Given the description of an element on the screen output the (x, y) to click on. 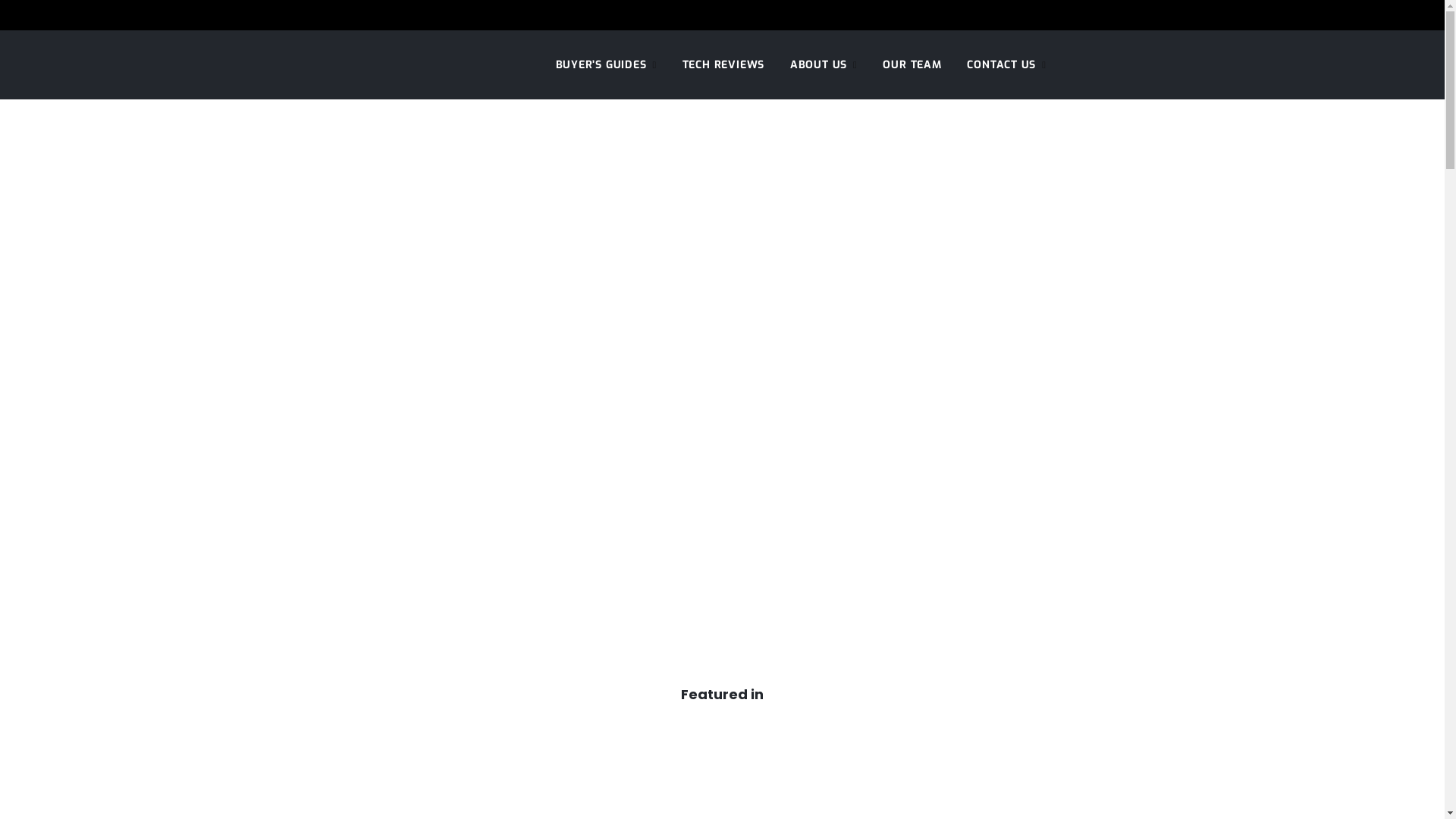
MSN-logo Element type: hover (381, 754)
TECH REVIEWS Element type: text (723, 65)
Engadget-logo Element type: hover (608, 753)
Wired_logo Element type: hover (836, 765)
OUR TEAM Element type: text (911, 65)
Mr Gadget Element type: hover (392, 65)
telstra-logo-black-and-white Element type: hover (1063, 763)
CONTACT US Element type: text (1006, 65)
ABOUT US Element type: text (823, 65)
